Given the description of an element on the screen output the (x, y) to click on. 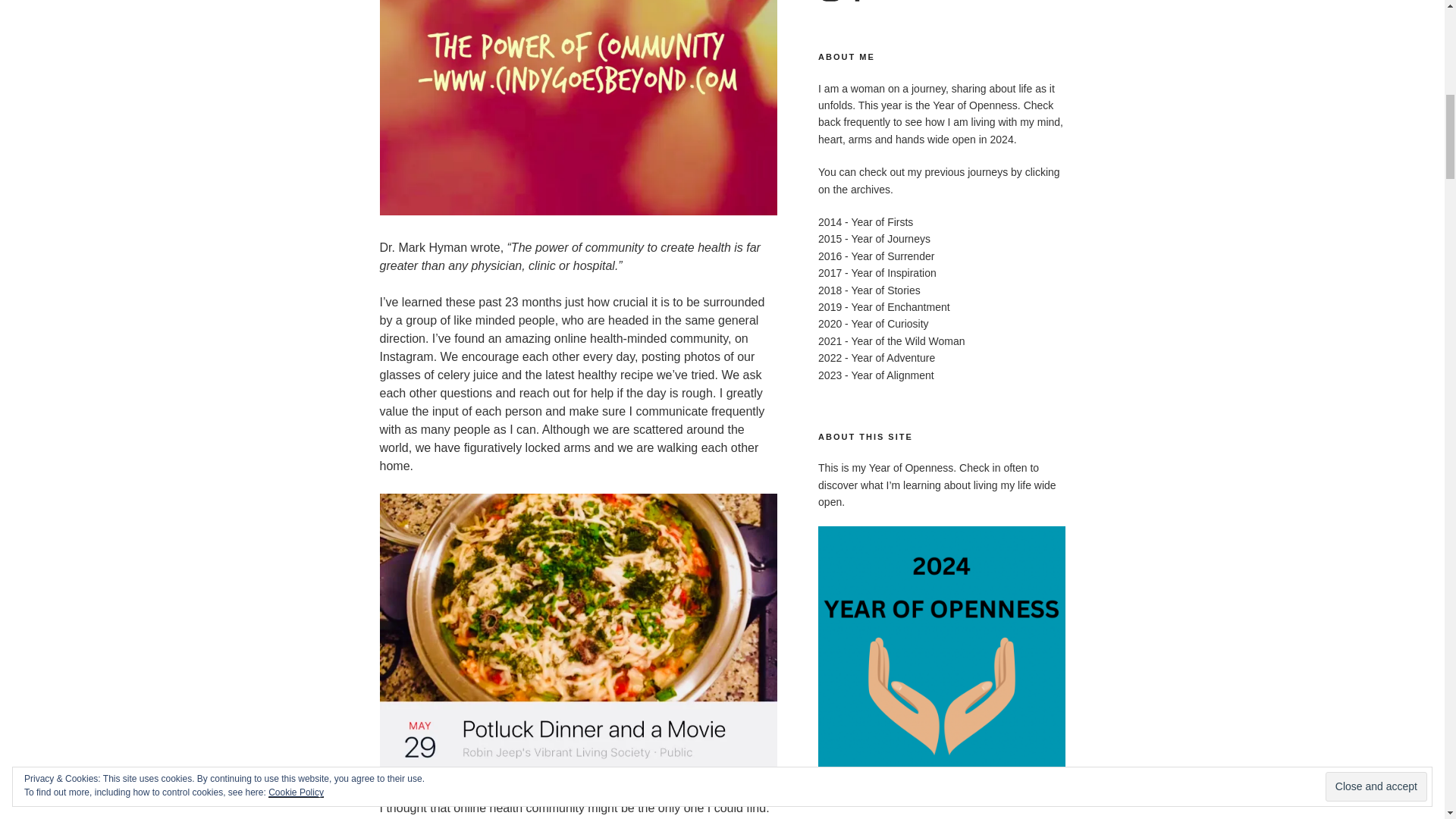
Facebook (857, 2)
Instagram (830, 2)
